Given the description of an element on the screen output the (x, y) to click on. 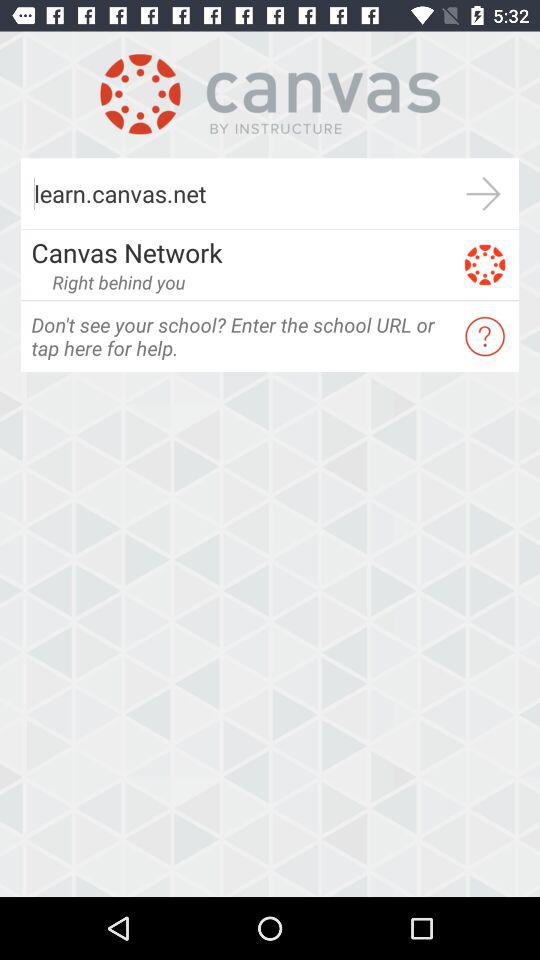
turn off item below the canvas network icon (118, 282)
